Given the description of an element on the screen output the (x, y) to click on. 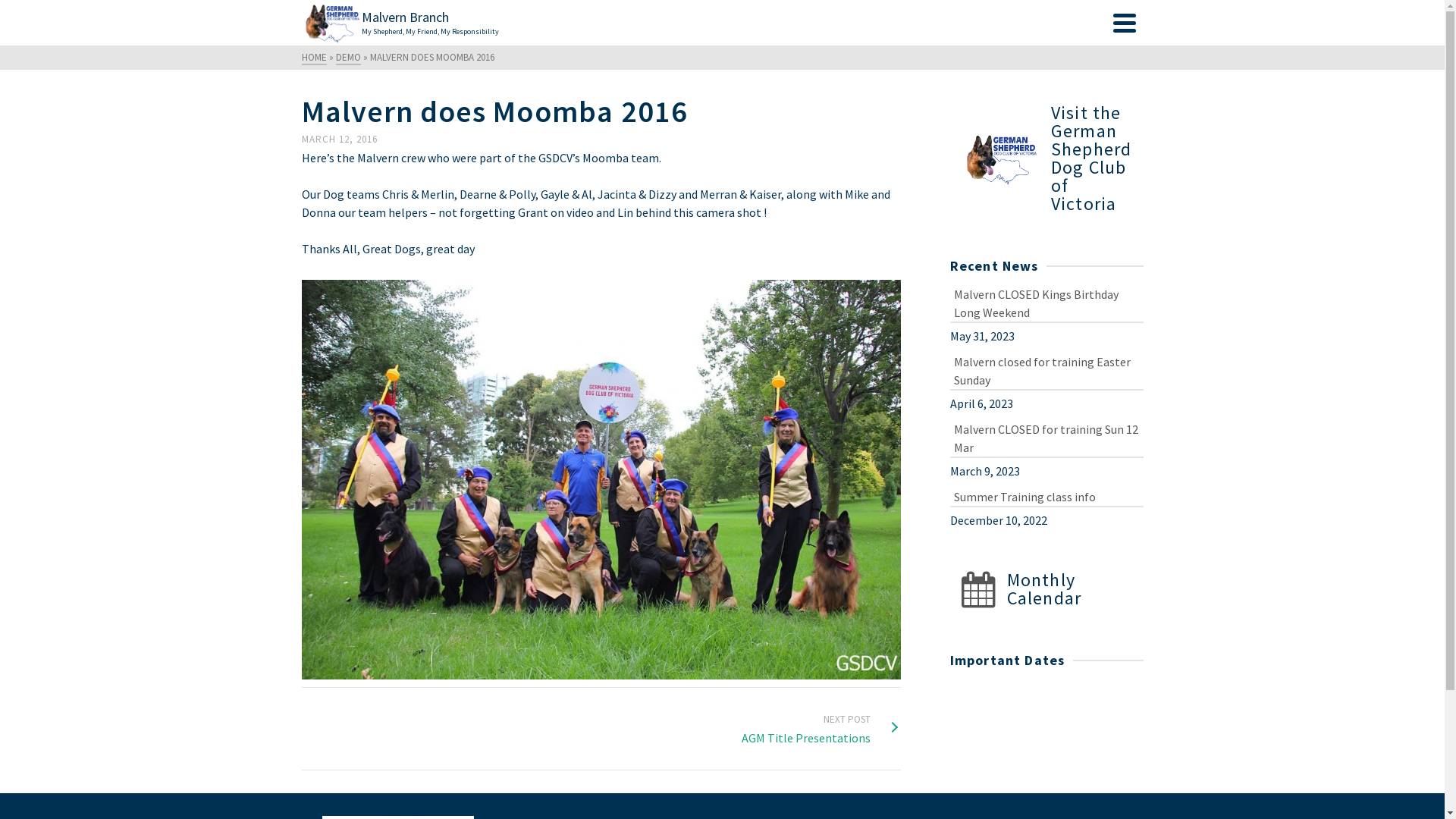
Summer Training class info Element type: text (1045, 495)
DEMO Element type: text (347, 57)
HOME Element type: text (313, 57)
Malvern CLOSED Kings Birthday Long Weekend Element type: text (1045, 302)
Malvern closed for training Easter Sunday Element type: text (1045, 369)
Malvern CLOSED for training Sun 12 Mar Element type: text (1045, 437)
Monthly Calendar Element type: text (1045, 588)
Visit the German Shepherd Dog Club of Victoria Element type: text (1045, 158)
Malvern Branch
My Shepherd, My Friend, My Responsibility Element type: text (703, 22)
NEXT POST
AGM Title Presentations Element type: text (820, 728)
